Given the description of an element on the screen output the (x, y) to click on. 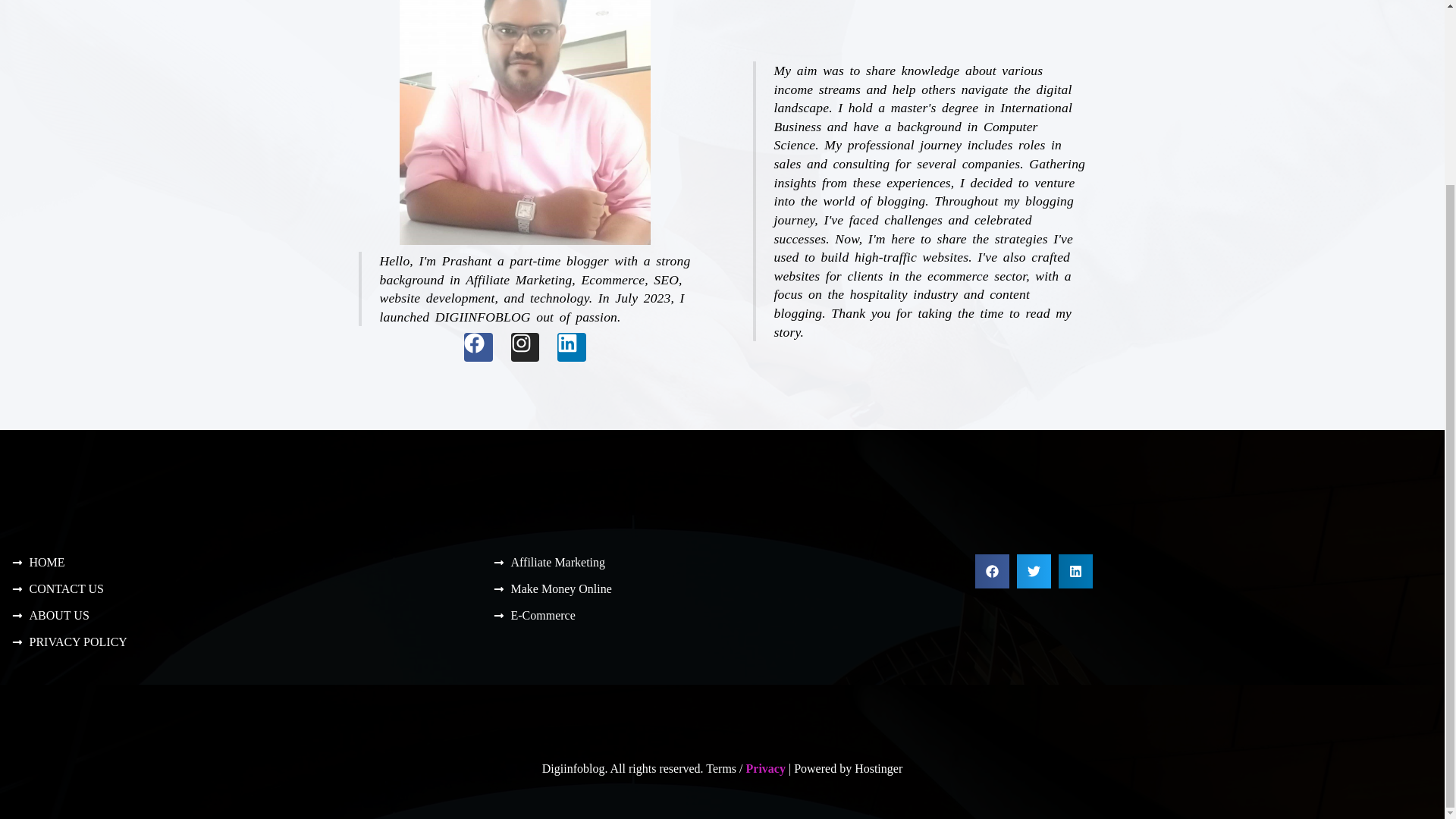
Privacy (765, 768)
HOME (239, 562)
PRIVACY POLICY (239, 641)
CONTACT US (239, 588)
Affiliate Marketing (721, 562)
ABOUT US (239, 615)
Make Money Online (721, 588)
E-Commerce (721, 615)
